Given the description of an element on the screen output the (x, y) to click on. 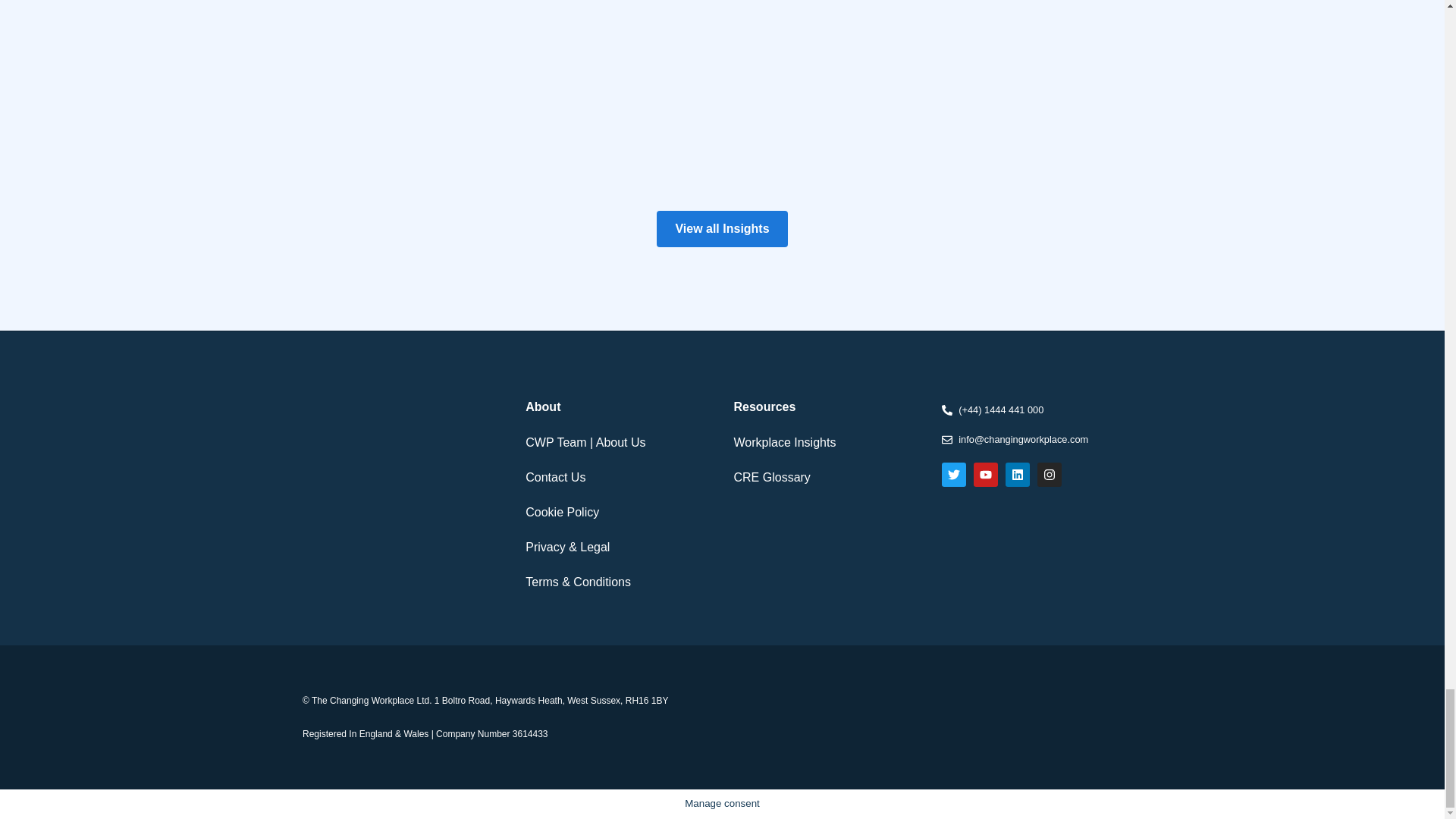
Cookie Policy (617, 512)
Contact Us (617, 477)
View all Insights (721, 228)
